Given the description of an element on the screen output the (x, y) to click on. 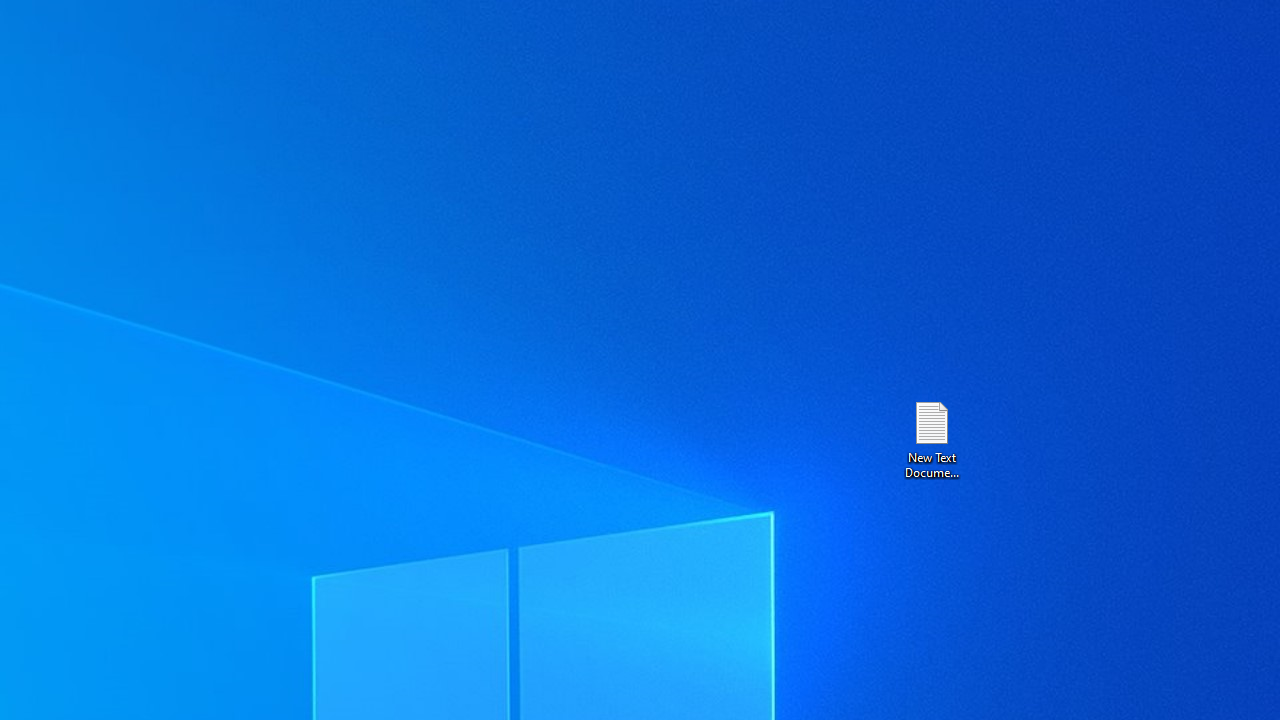
New Text Document (2) (931, 438)
